Given the description of an element on the screen output the (x, y) to click on. 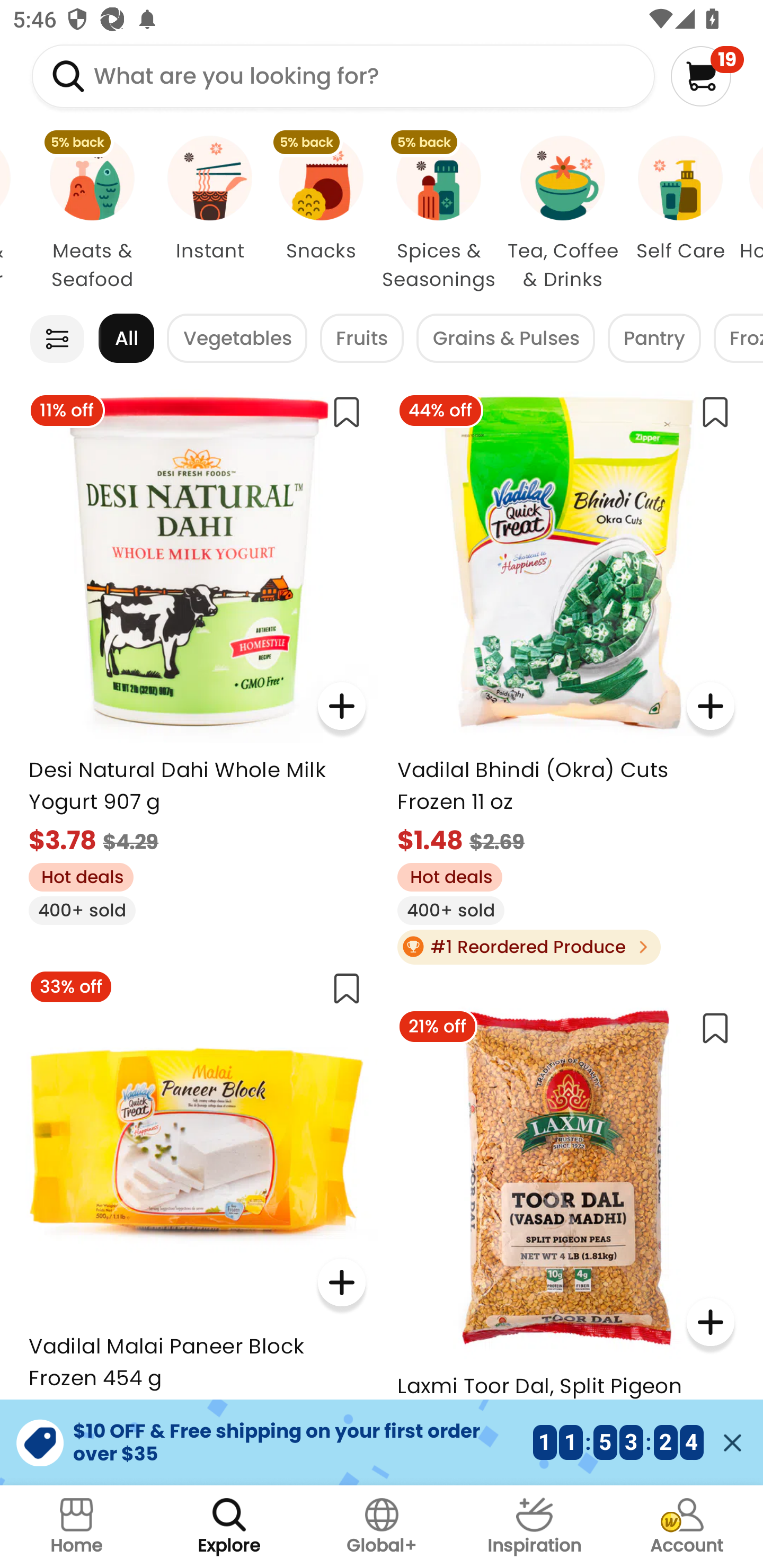
What are you looking for? (343, 75)
19 (706, 75)
5% back Meats & Seafood (92, 214)
Instant (209, 214)
5% back Snacks (320, 214)
5% back Spices & Seasonings (438, 214)
Tea, Coffee & Drinks (562, 214)
Self Care (680, 214)
All (126, 337)
Vegetables (237, 337)
Fruits (361, 337)
Grains & Pulses (505, 337)
Pantry (654, 337)
Home (76, 1526)
Explore (228, 1526)
Global+ (381, 1526)
Inspiration (533, 1526)
Account (686, 1526)
